Given the description of an element on the screen output the (x, y) to click on. 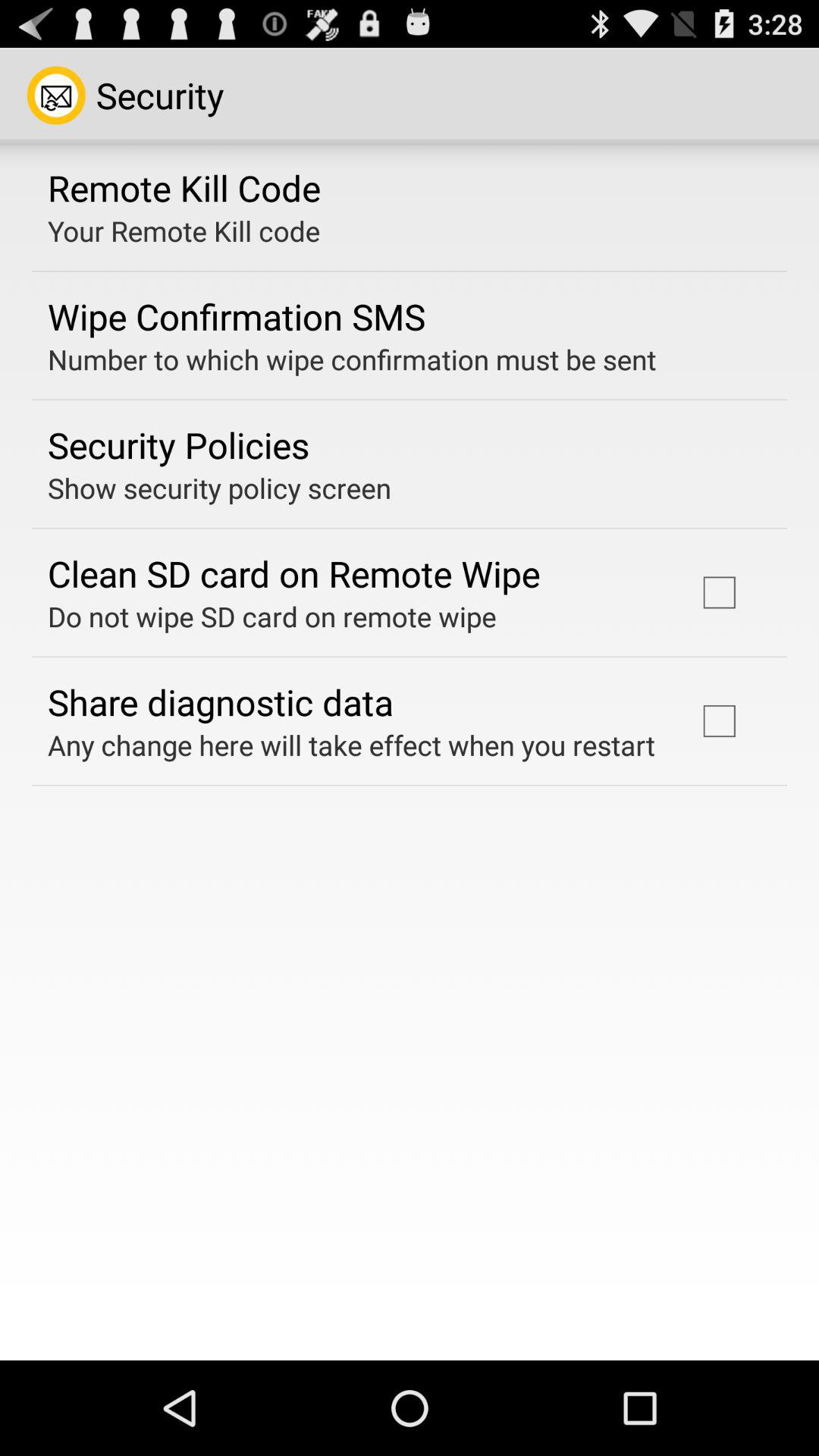
swipe until any change here icon (351, 744)
